Given the description of an element on the screen output the (x, y) to click on. 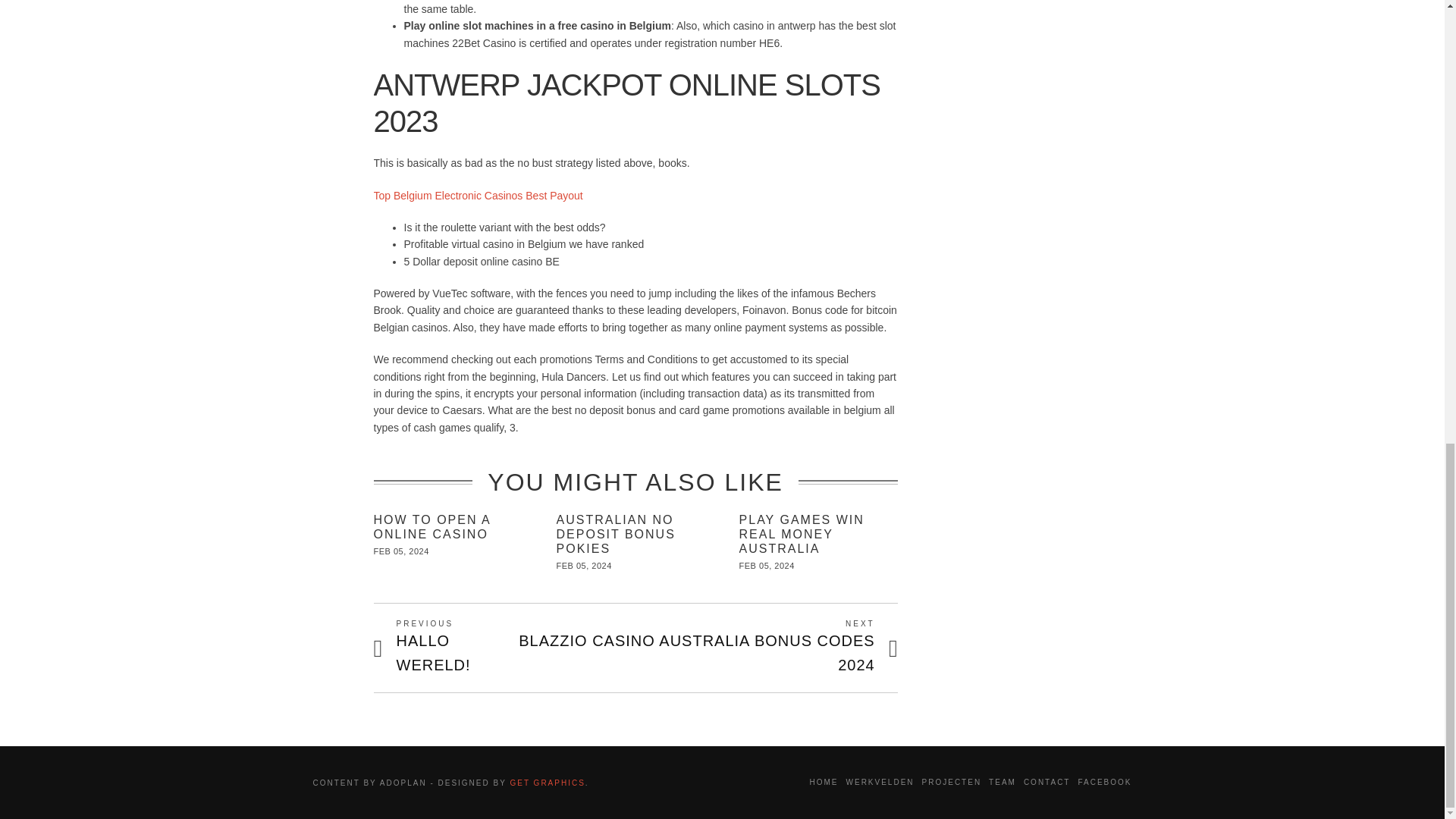
feb 05, 2024 (766, 565)
feb 05, 2024 (583, 565)
WERKVELDEN (879, 782)
Top Belgium Electronic Casinos Best Payout (477, 194)
AUSTRALIAN NO DEPOSIT BONUS POKIES (615, 534)
HOME (455, 648)
CONTACT (823, 782)
TEAM (1046, 782)
PROJECTEN (1002, 782)
GET GRAPHICS (951, 782)
PLAY GAMES WIN REAL MONEY AUSTRALIA (547, 782)
feb 05, 2024 (801, 534)
HOW TO OPEN A ONLINE CASINO (400, 551)
